Given the description of an element on the screen output the (x, y) to click on. 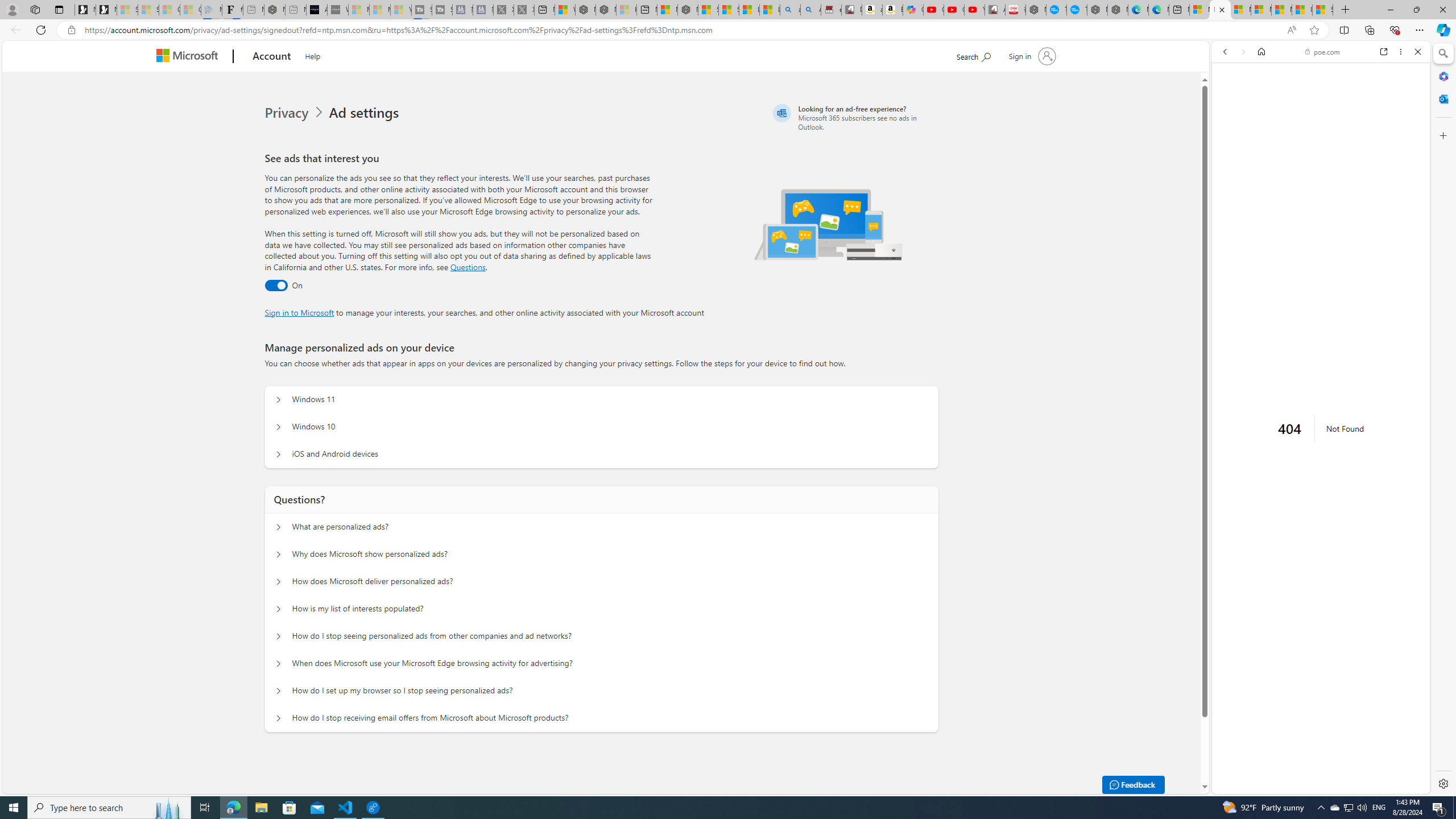
Poe - Poe (1315, 552)
SERP,5405 (1315, 448)
Help (312, 54)
Manage personalized ads on your device Windows 11 (278, 400)
Microsoft Start - Sleeping (379, 9)
Side bar (1443, 418)
Fast AI Chat (1320, 286)
Global web icon (1232, 648)
Ad settings toggle (276, 285)
Account (272, 56)
